Given the description of an element on the screen output the (x, y) to click on. 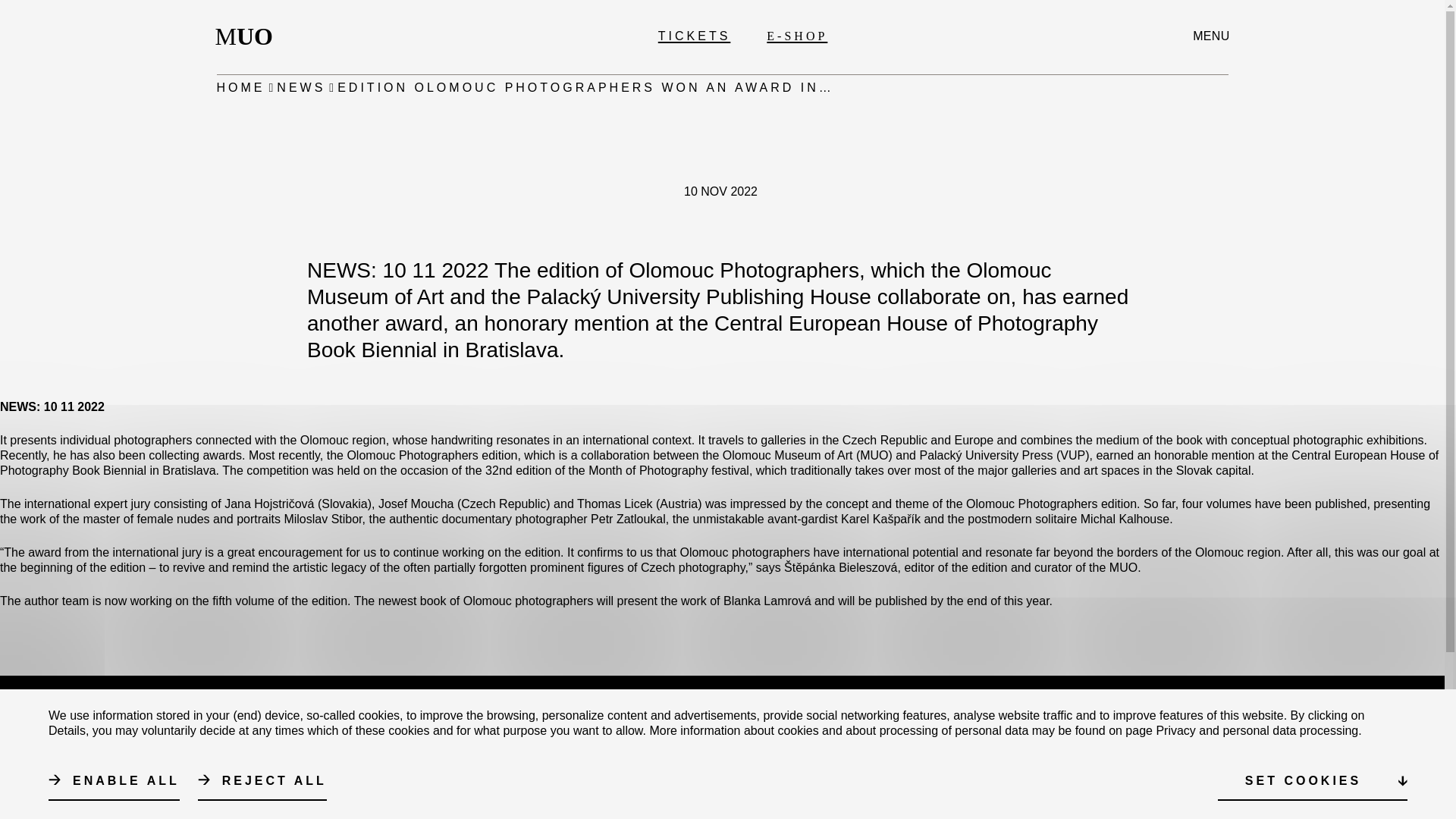
TICKETS (694, 35)
NEWS (300, 88)
MENU (1210, 35)
OLOMOUC ARCHDIOCESAN MUSEUM (769, 765)
SET COOKIES (1312, 781)
MUSEUM OF MODERN ART (831, 736)
HOME (240, 88)
ENABLE ALL (113, 781)
E-SHOP (797, 35)
